Given the description of an element on the screen output the (x, y) to click on. 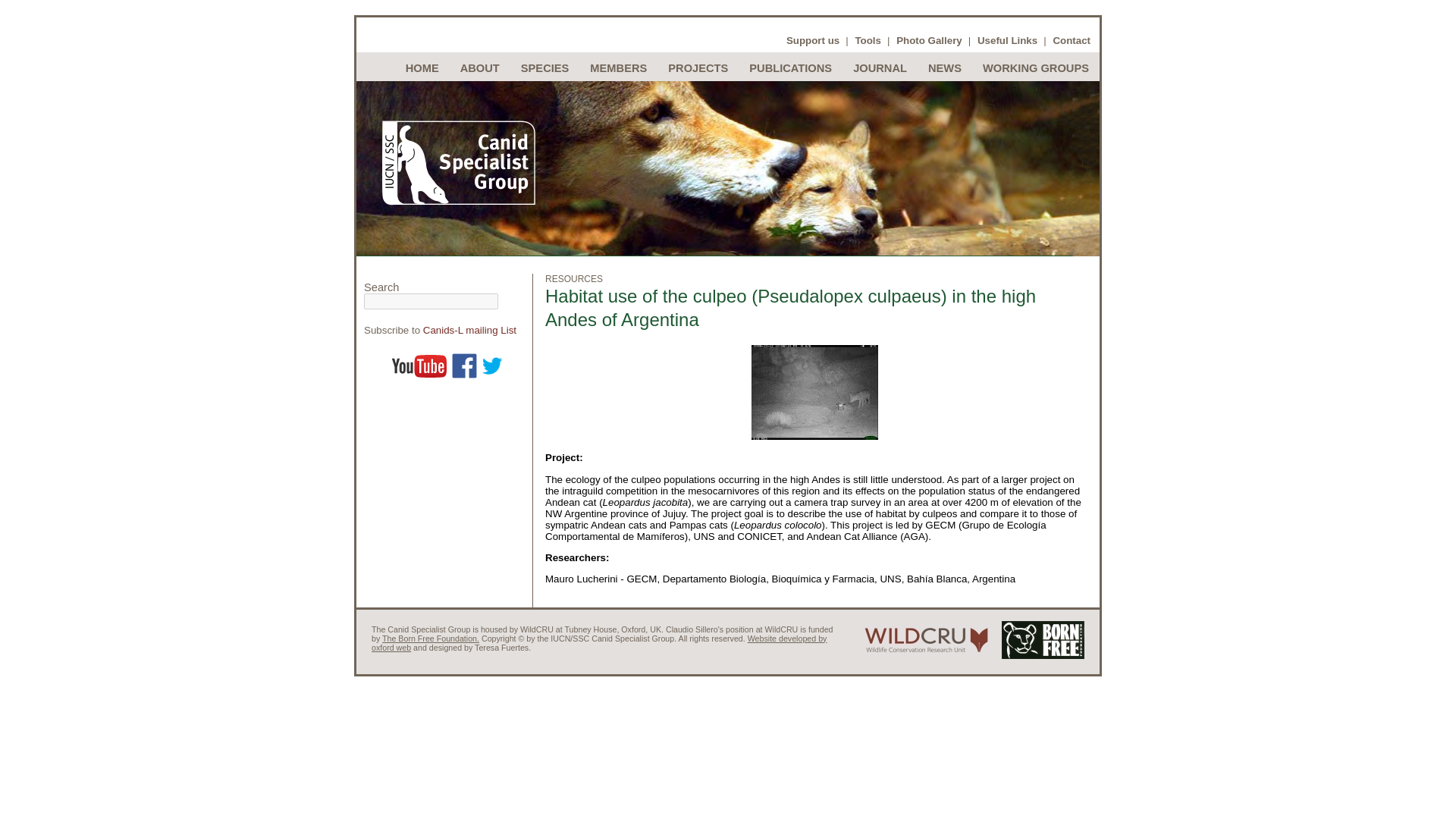
Photo Gallery (929, 40)
Contact (1071, 40)
HOME (422, 68)
Useful Links (1006, 40)
ABOUT (479, 68)
Follow our Youtube channel (418, 365)
Tools (867, 40)
Support us (813, 40)
Find us on Facebook (464, 365)
SPECIES (545, 68)
